Given the description of an element on the screen output the (x, y) to click on. 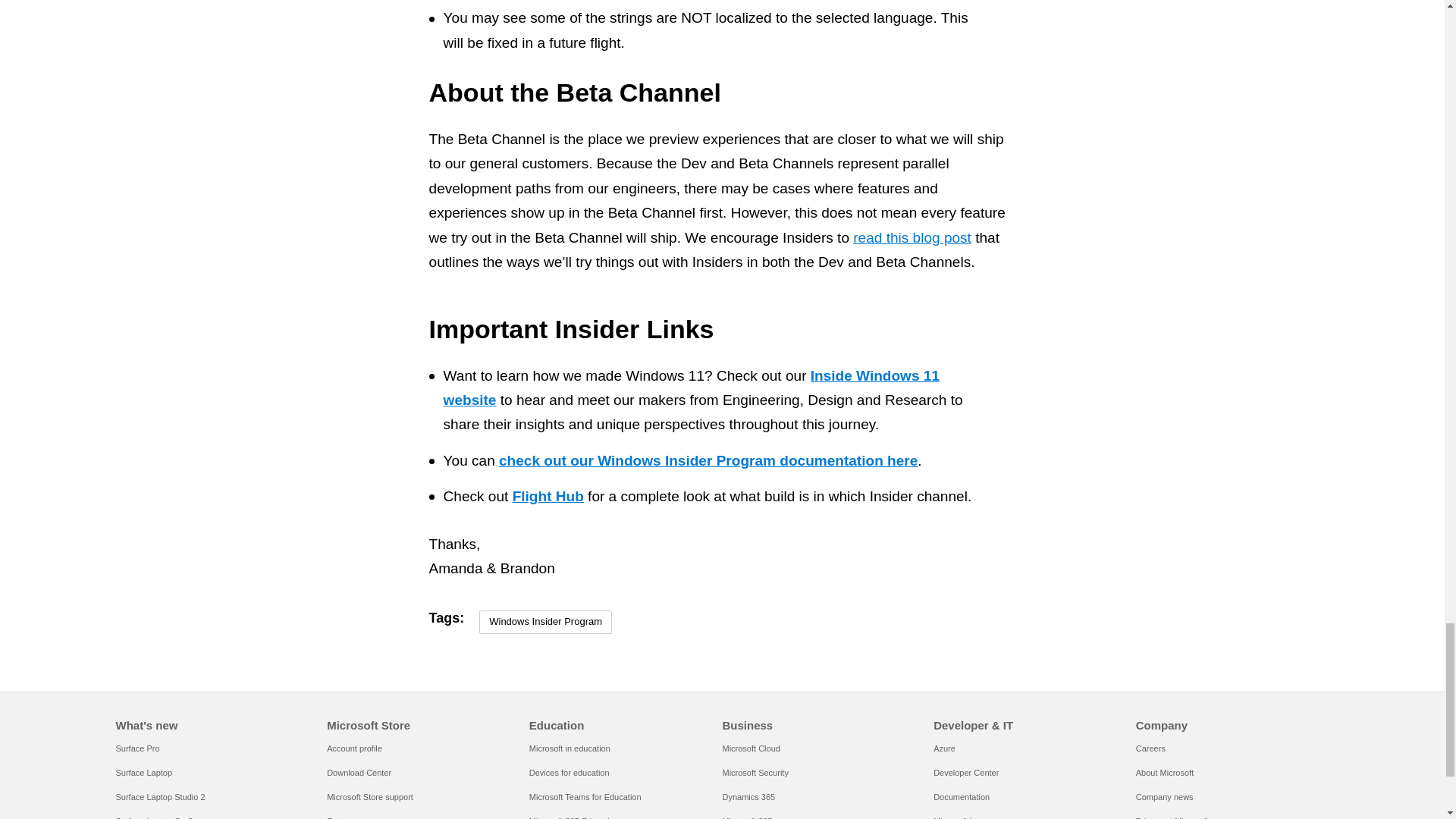
Windows Insider Program Tag (545, 621)
